Given the description of an element on the screen output the (x, y) to click on. 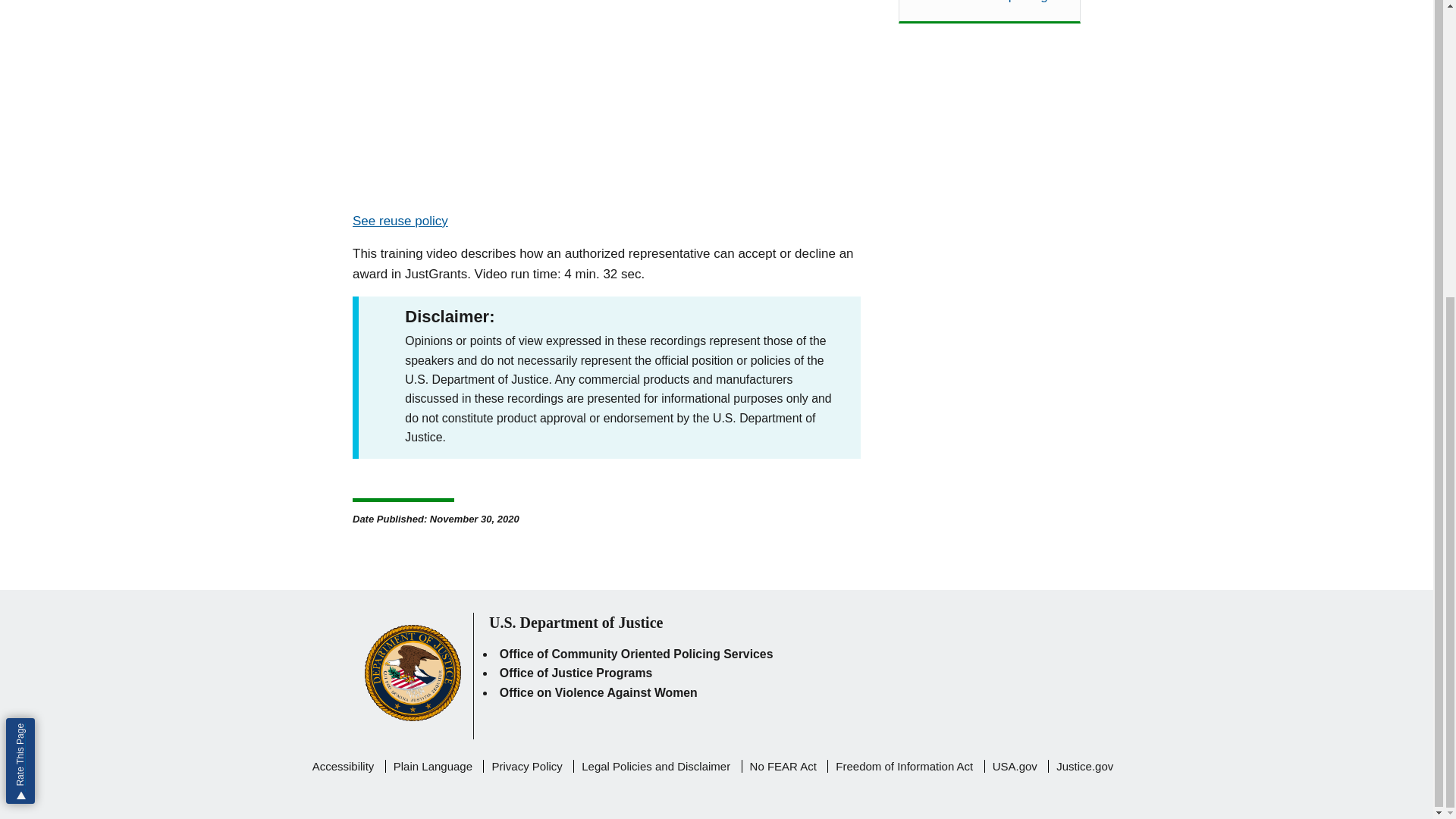
Office of Community Oriented Policing Services (636, 653)
No FEAR Act (782, 766)
Accessibility (343, 766)
Performance Reporting (989, 2)
Office on Violence Against Women (598, 692)
Legal Policies and Disclaimer (655, 766)
Privacy Policy (527, 766)
Office of Justice Programs (575, 672)
Plain Language (432, 766)
See reuse policy (400, 220)
USA.gov (1014, 766)
Justice.gov (1085, 766)
Freedom of Information Act (903, 766)
Grantee Award Acceptance (606, 99)
Performance Reporting (989, 2)
